Given the description of an element on the screen output the (x, y) to click on. 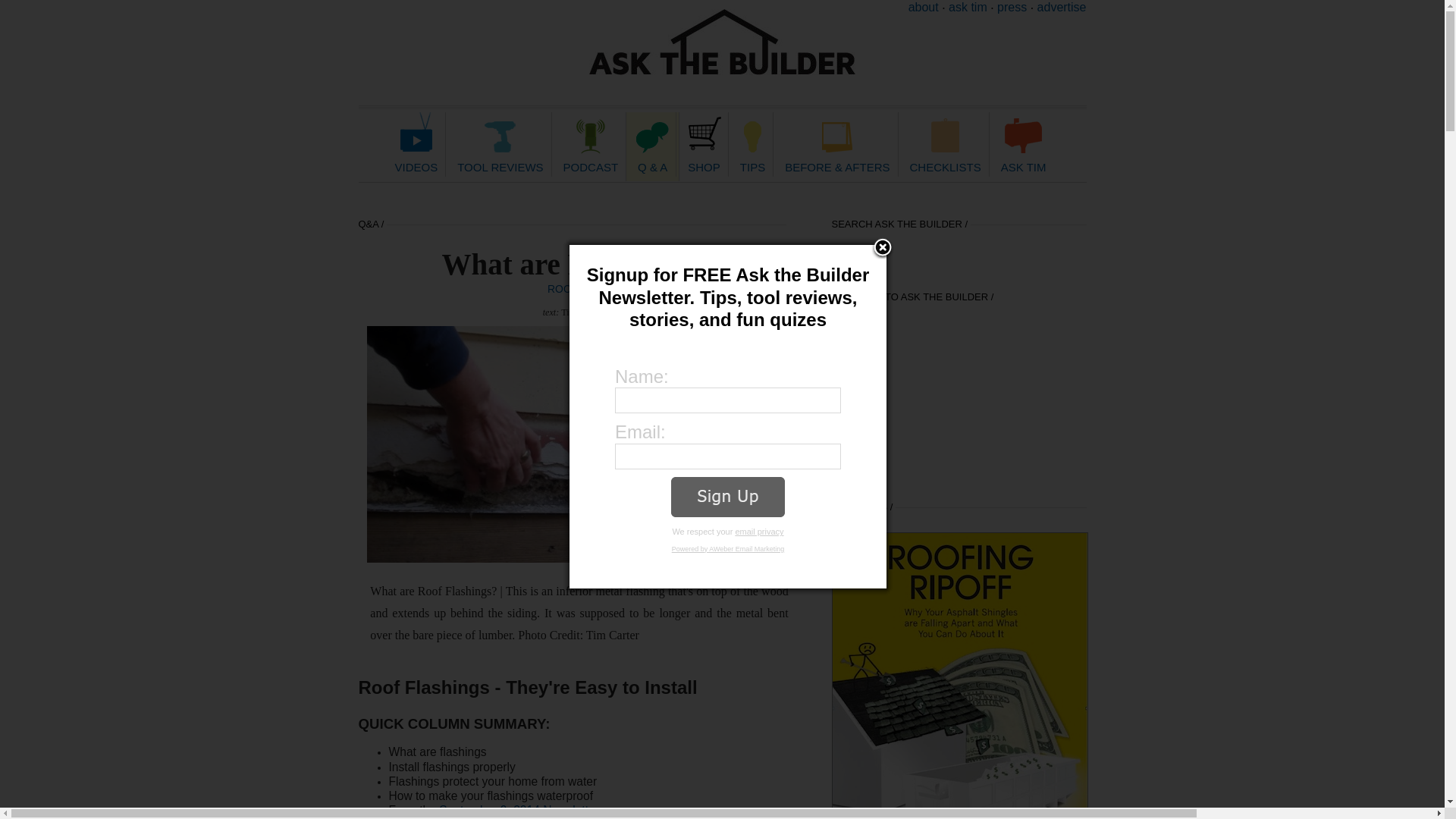
Ask the Builder (722, 42)
about (923, 6)
press (1011, 6)
SHOP (703, 144)
CHECKLISTS (945, 144)
TIPS (752, 144)
ask tim (968, 6)
TOOL REVIEWS (499, 144)
ROOFING (571, 288)
PODCAST (590, 144)
September 9, 2014 Newsletter (518, 809)
ASK TIM (1023, 144)
advertise (1061, 6)
VIDEOS (416, 144)
